Given the description of an element on the screen output the (x, y) to click on. 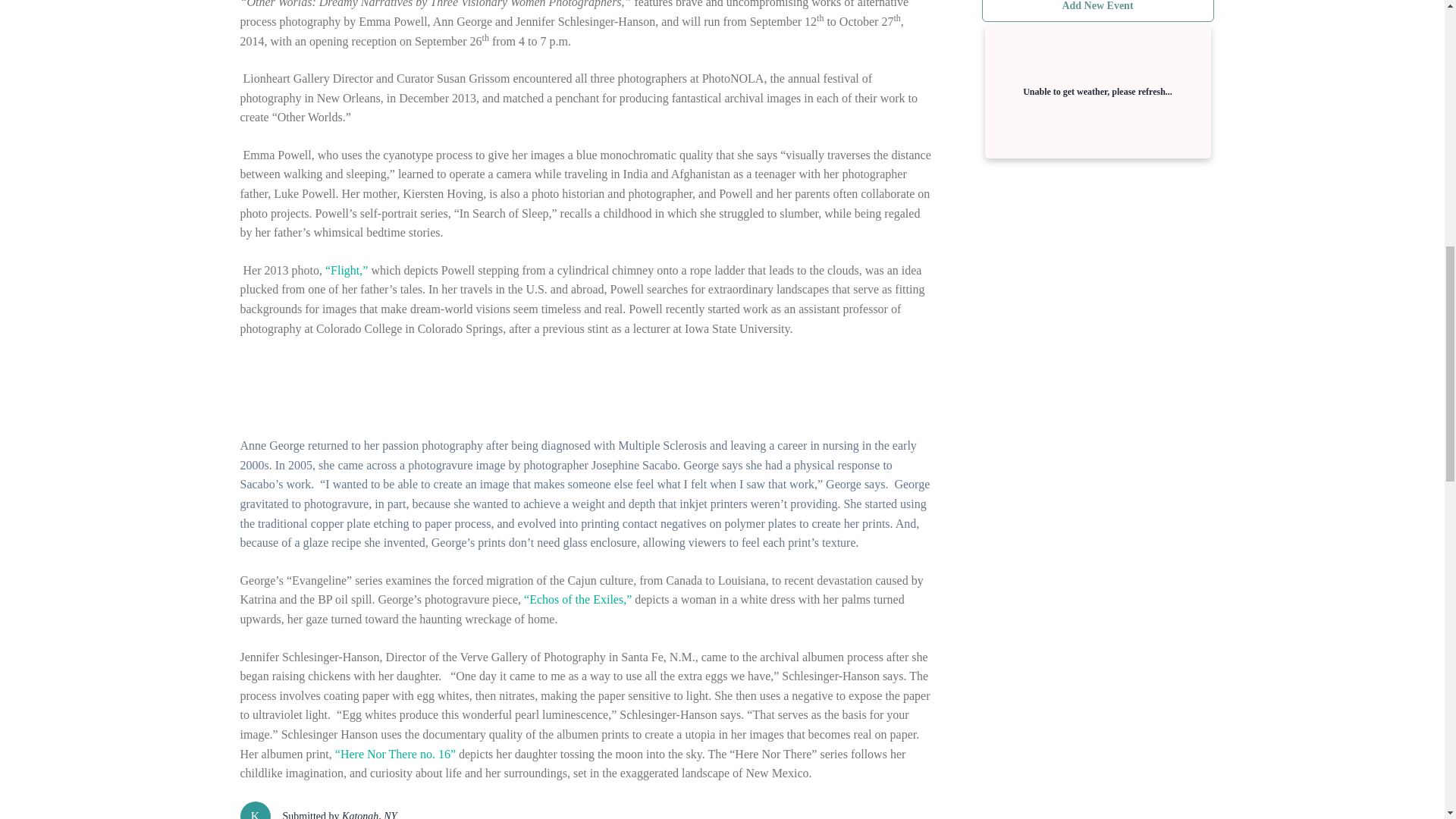
3rd party ad content (599, 390)
3rd party ad content (1094, 283)
Add New Event (1096, 10)
